Given the description of an element on the screen output the (x, y) to click on. 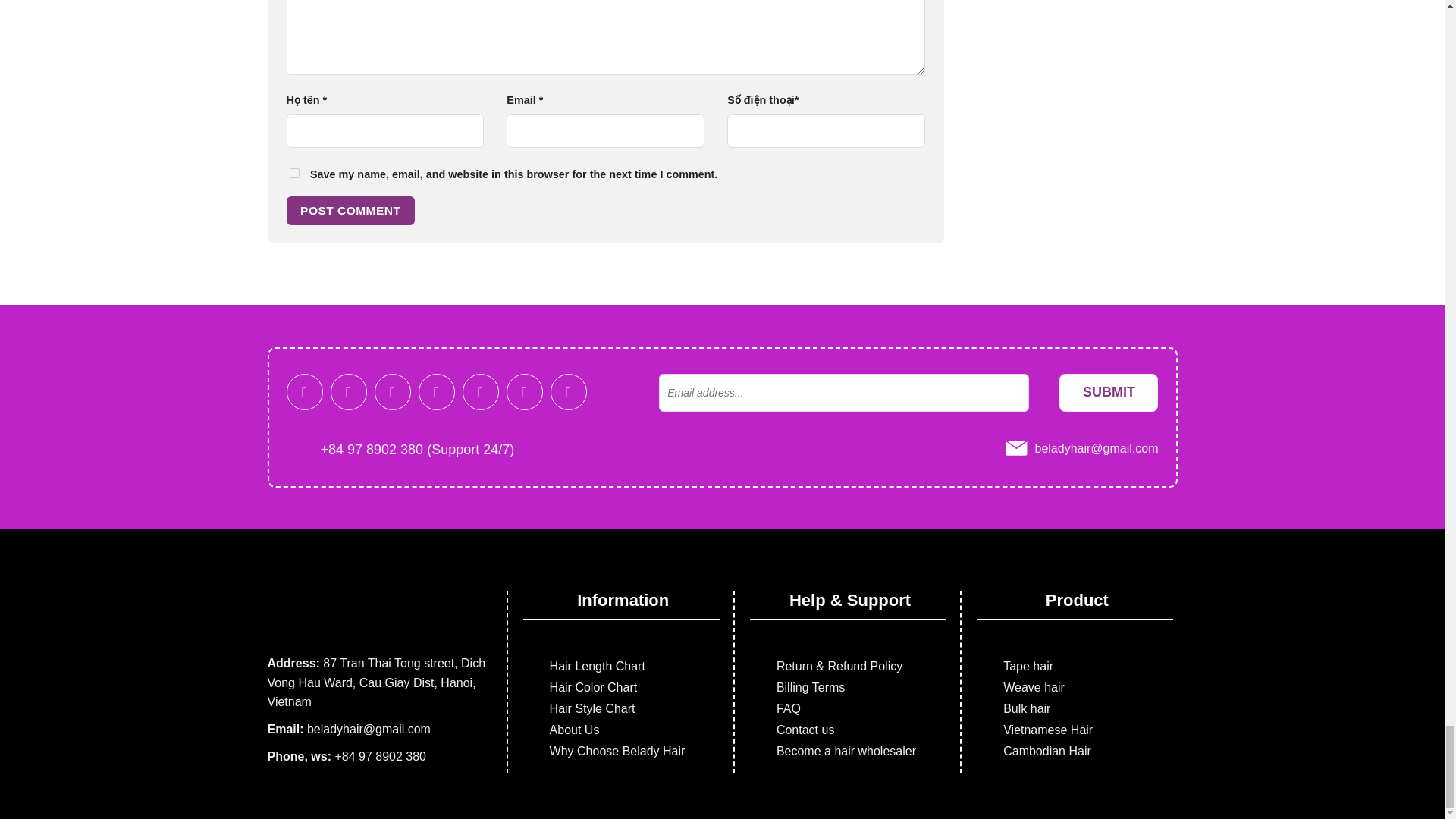
yes (294, 173)
SUBMIT (1108, 392)
Post Comment (350, 211)
